Given the description of an element on the screen output the (x, y) to click on. 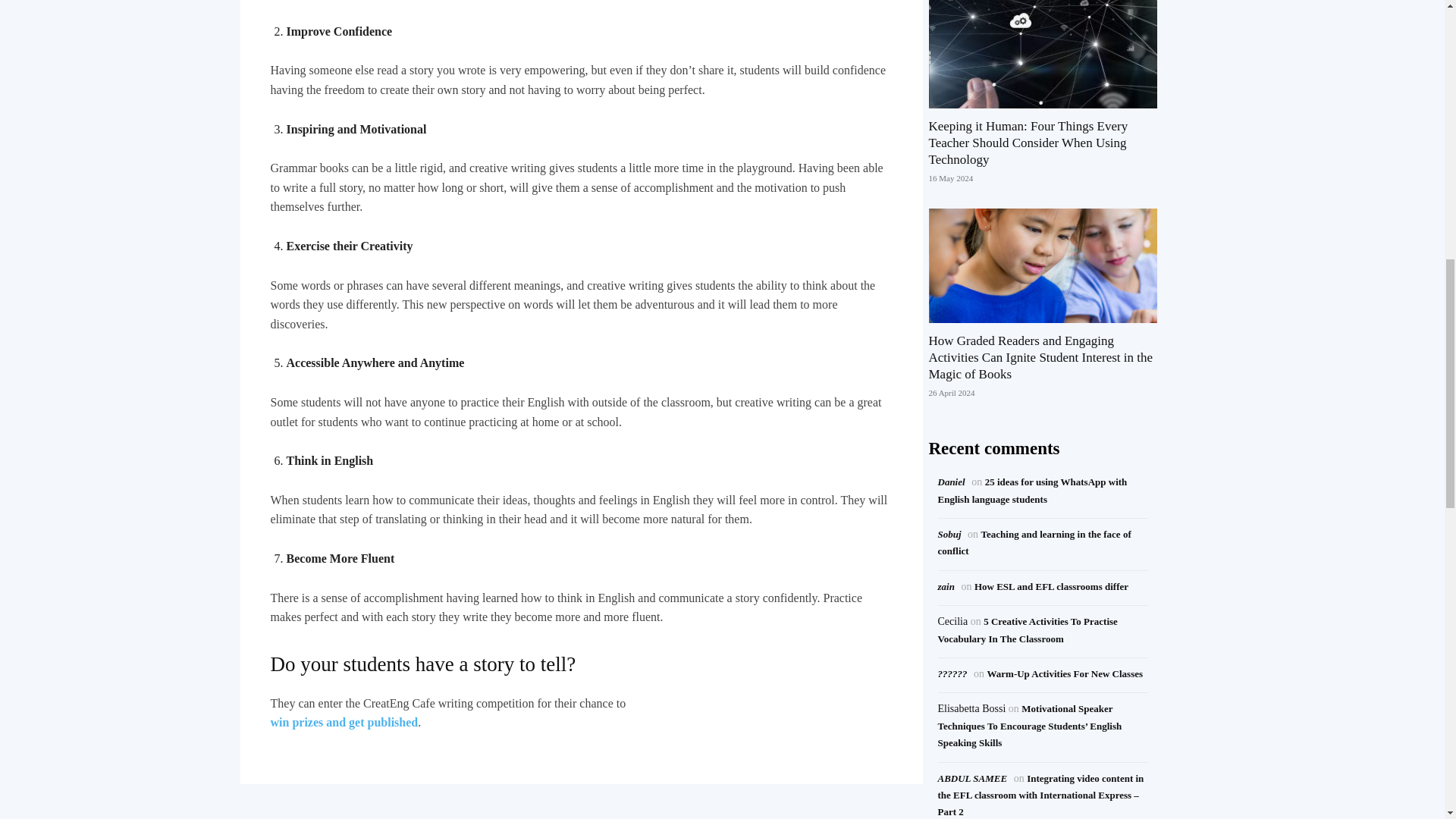
win prizes and get published (343, 721)
